Given the description of an element on the screen output the (x, y) to click on. 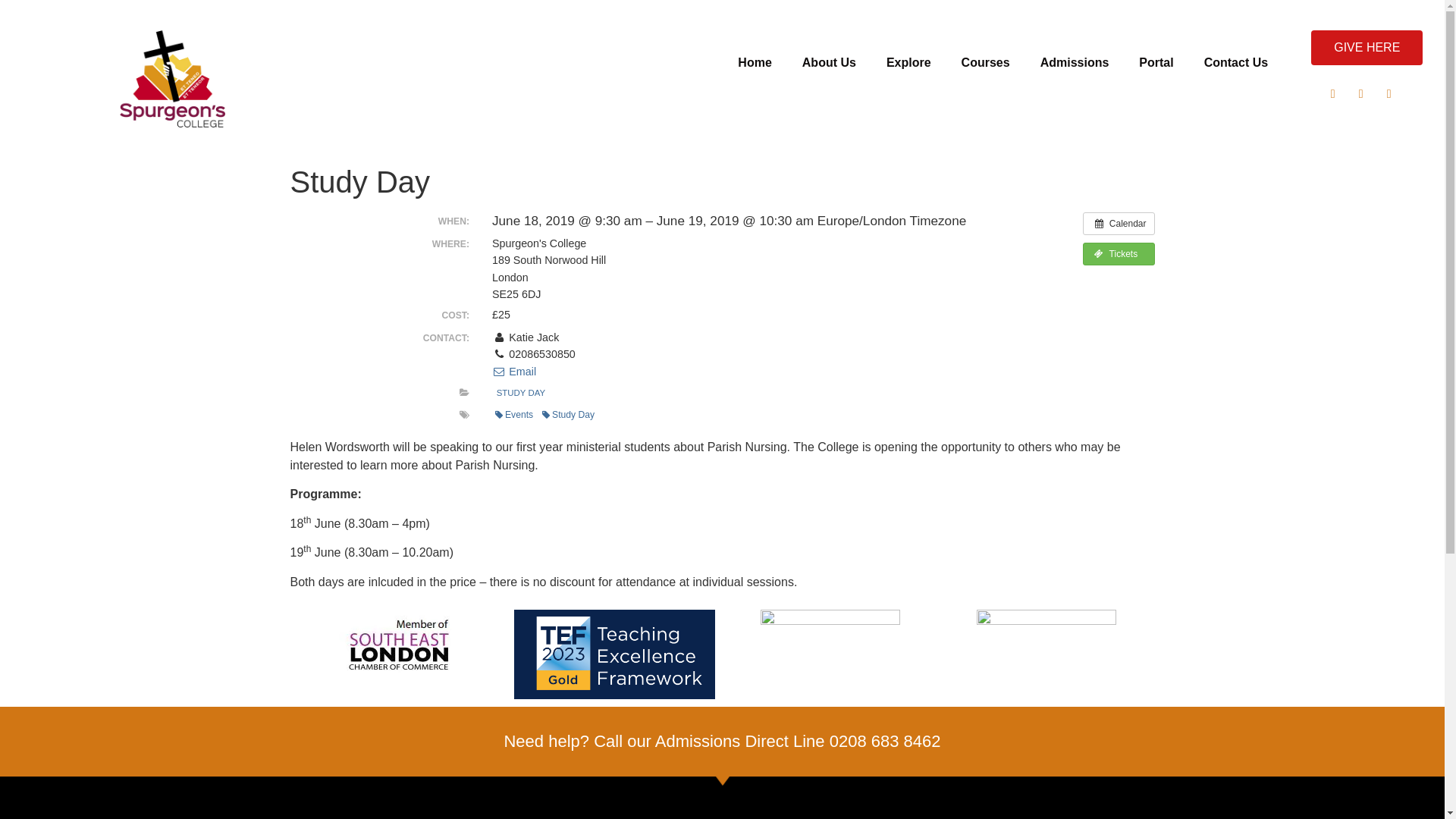
View all events (1118, 223)
Tickets (1118, 253)
Categories (464, 392)
Home (754, 62)
Tags (464, 414)
About Us (828, 62)
Explore (908, 62)
